Given the description of an element on the screen output the (x, y) to click on. 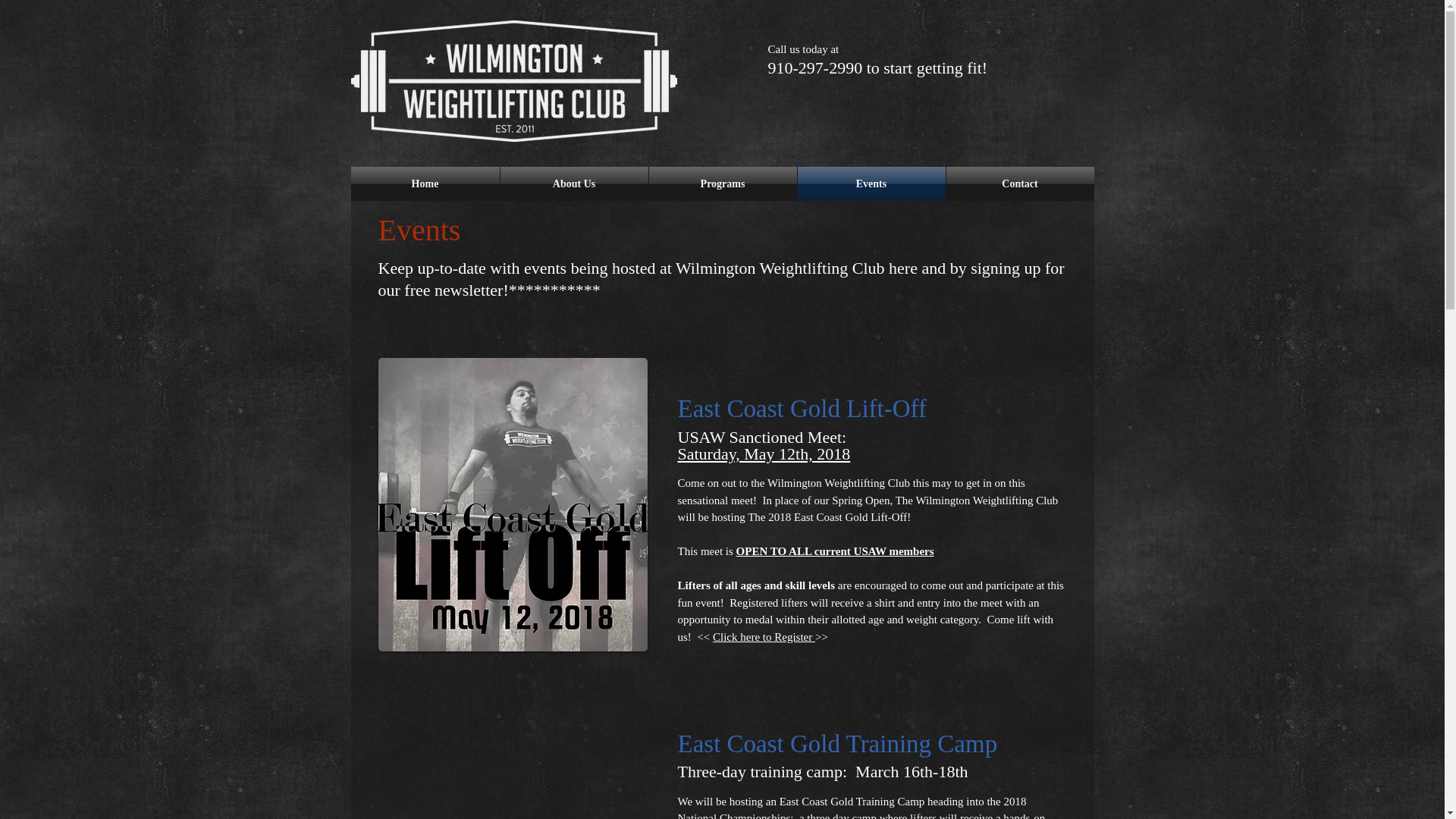
Contact (1020, 183)
Programs (722, 183)
Click here to Register  (764, 636)
Home (424, 183)
Facebook Like (892, 124)
External Facebook (513, 796)
Events (870, 183)
About Us (573, 183)
